Given the description of an element on the screen output the (x, y) to click on. 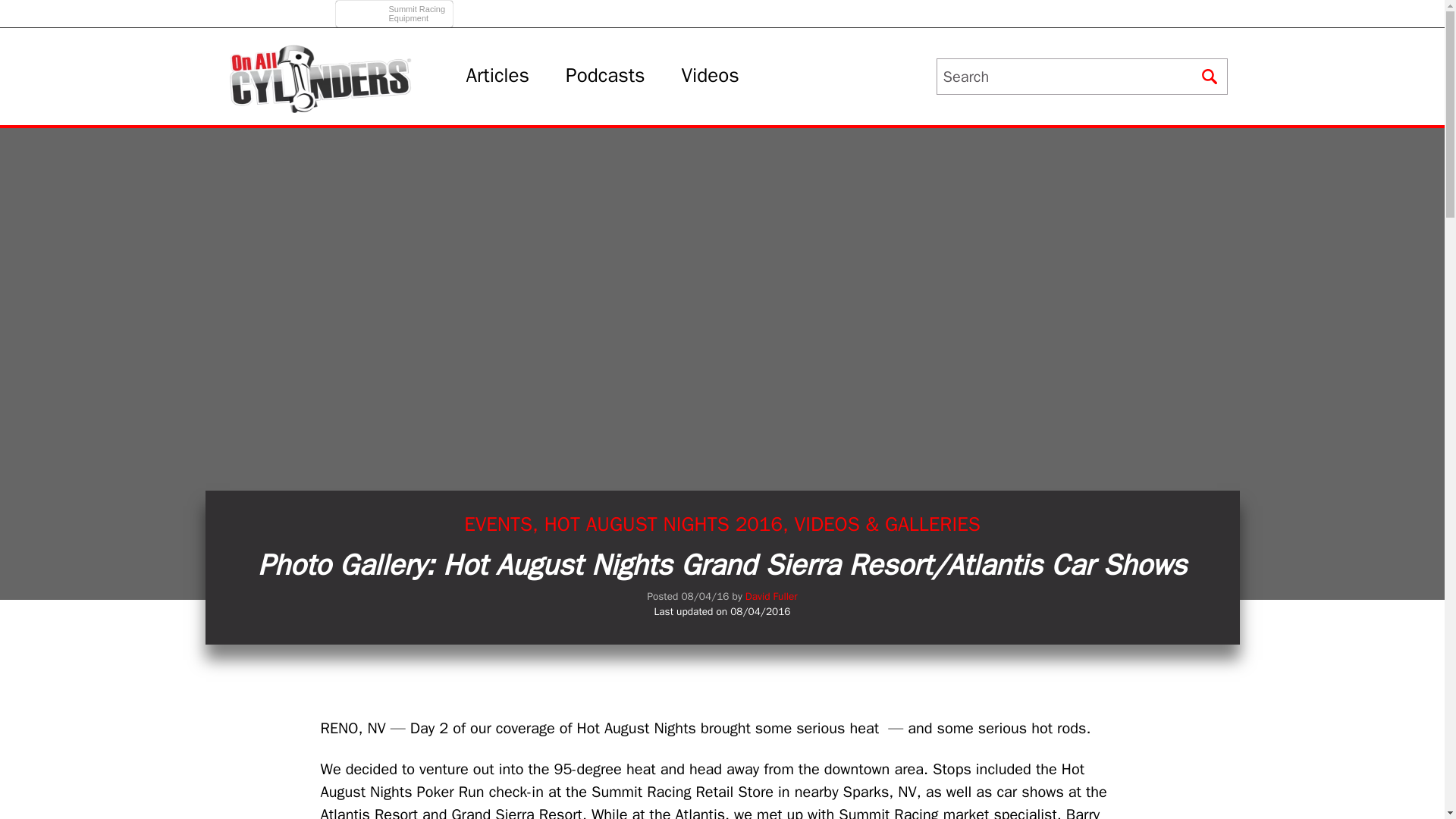
Articles (497, 76)
Podcasts (605, 76)
Videos (395, 9)
